Given the description of an element on the screen output the (x, y) to click on. 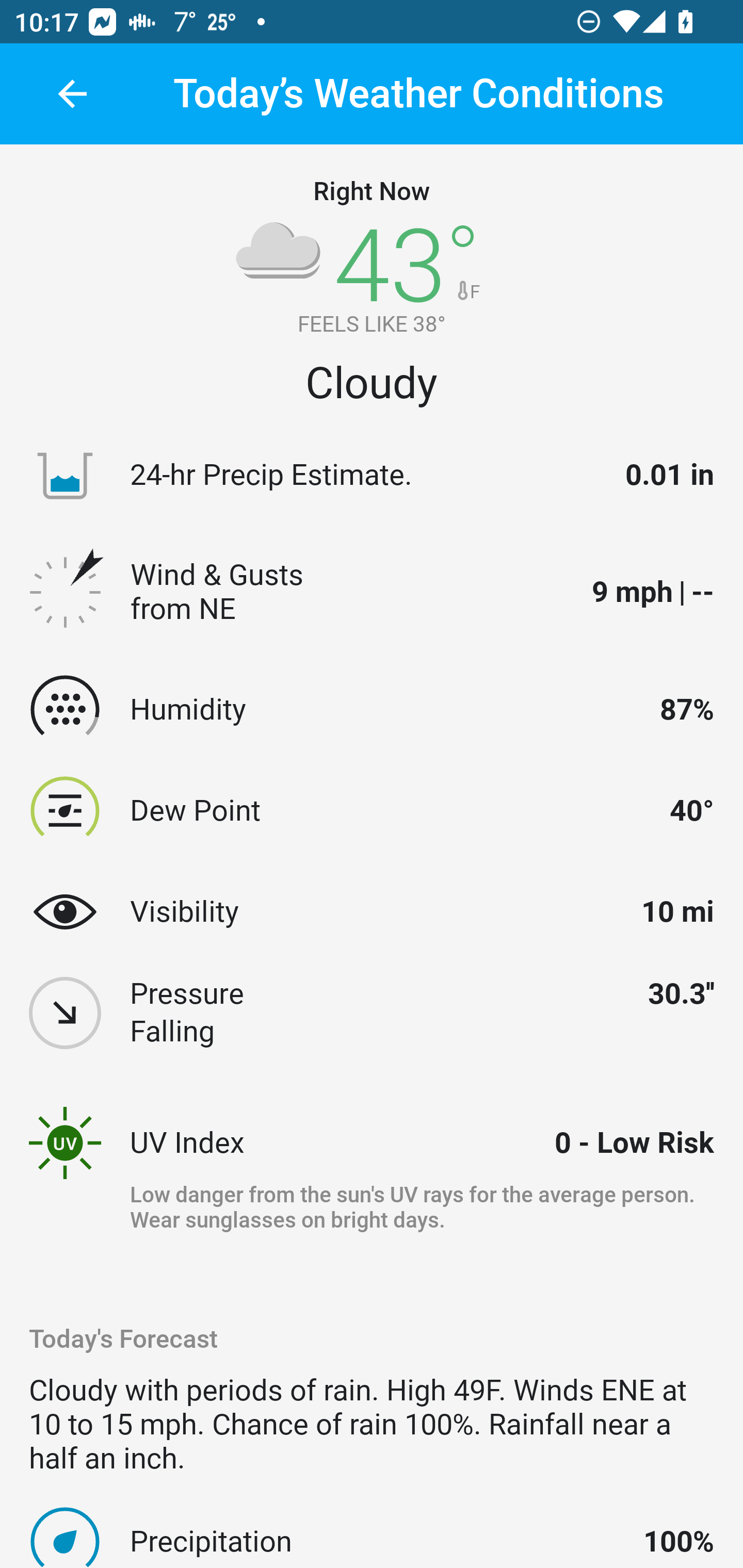
back (71, 93)
Precipitation (377, 1541)
100% (678, 1541)
